Given the description of an element on the screen output the (x, y) to click on. 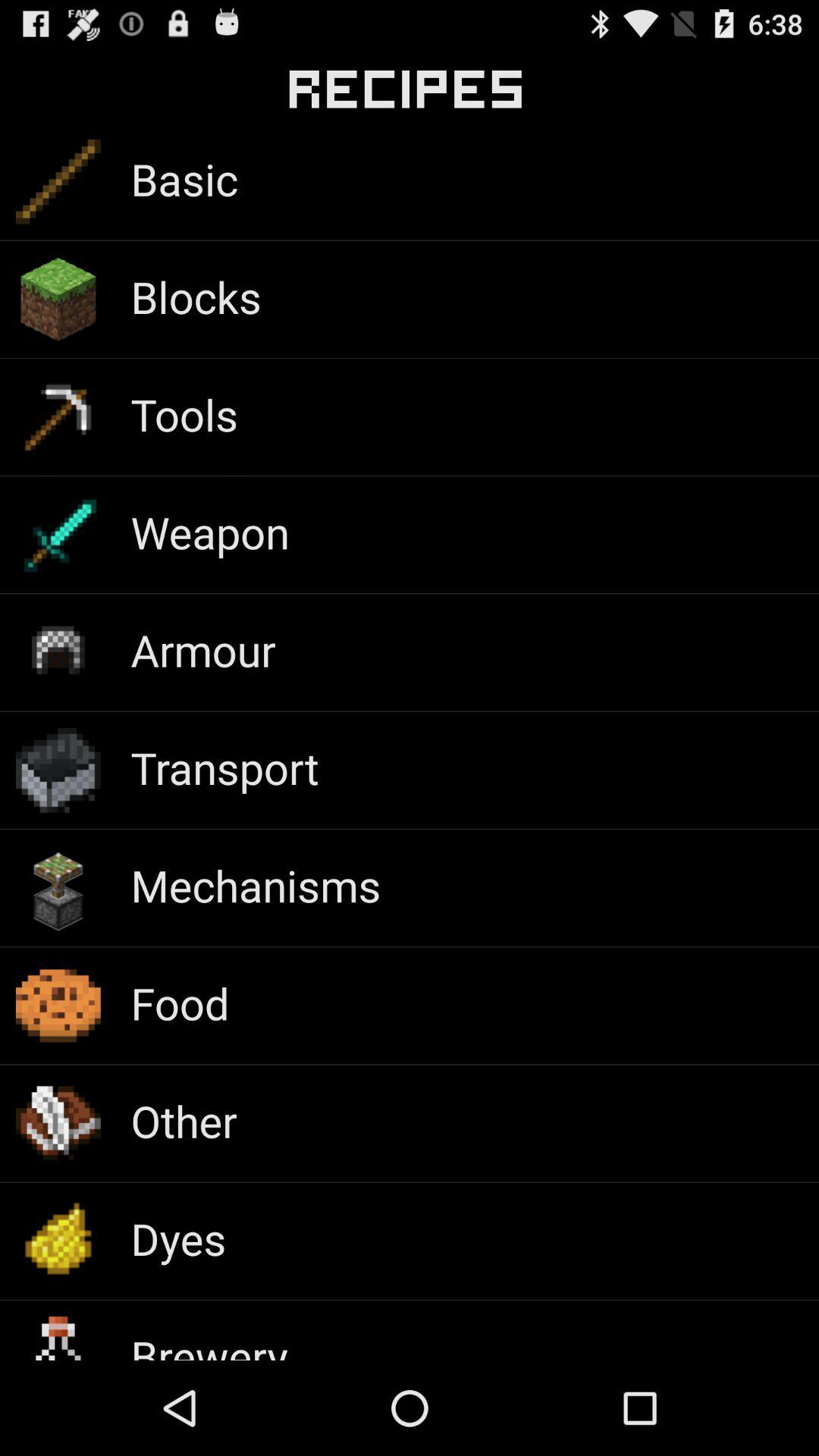
open the app below the blocks app (184, 414)
